Given the description of an element on the screen output the (x, y) to click on. 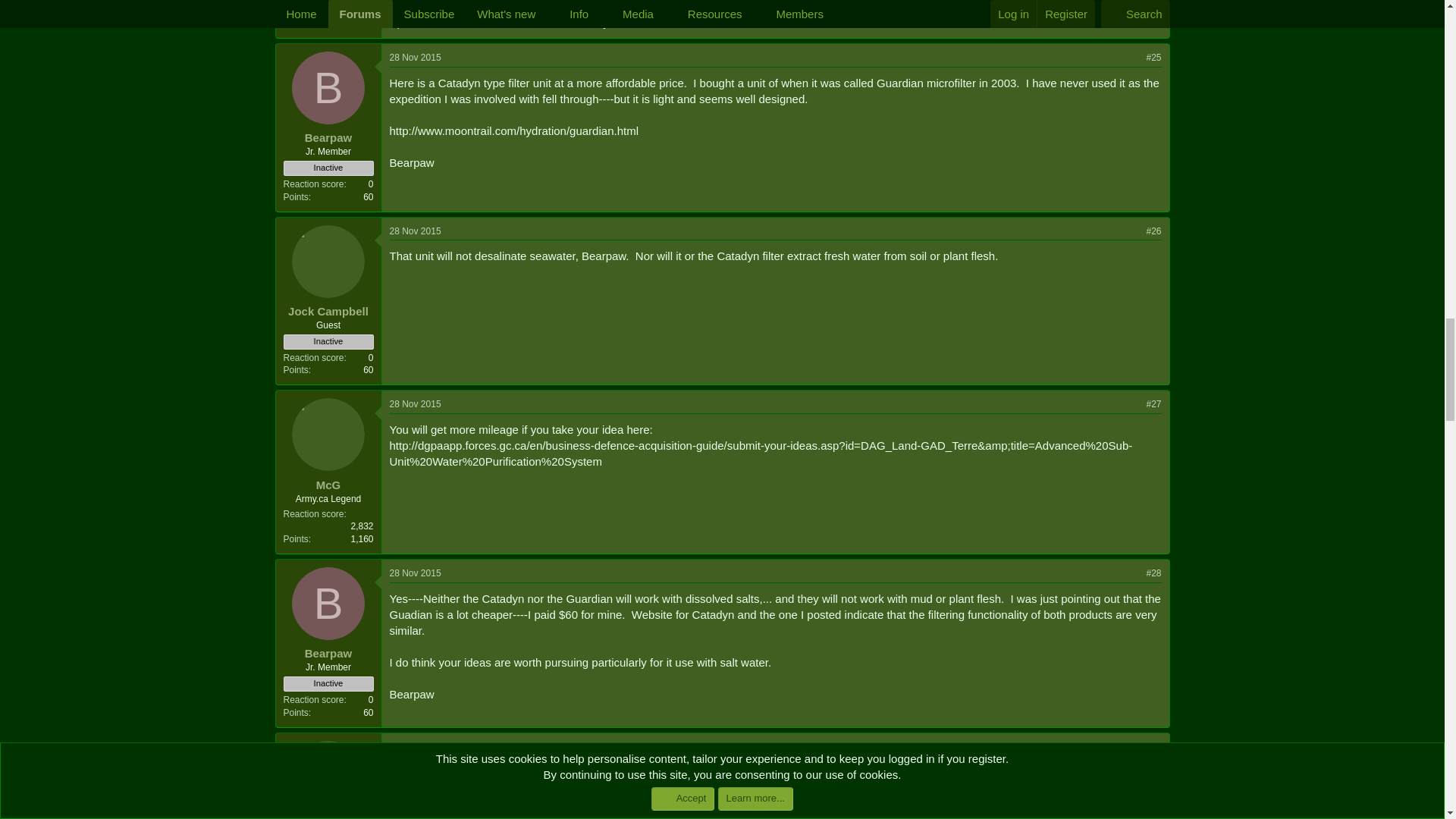
28 Nov 2015 at 19:02 (415, 573)
28 Nov 2015 at 16:01 (415, 57)
28 Nov 2015 at 18:48 (415, 403)
28 Nov 2015 at 19:53 (415, 747)
28 Nov 2015 at 17:48 (415, 231)
